Given the description of an element on the screen output the (x, y) to click on. 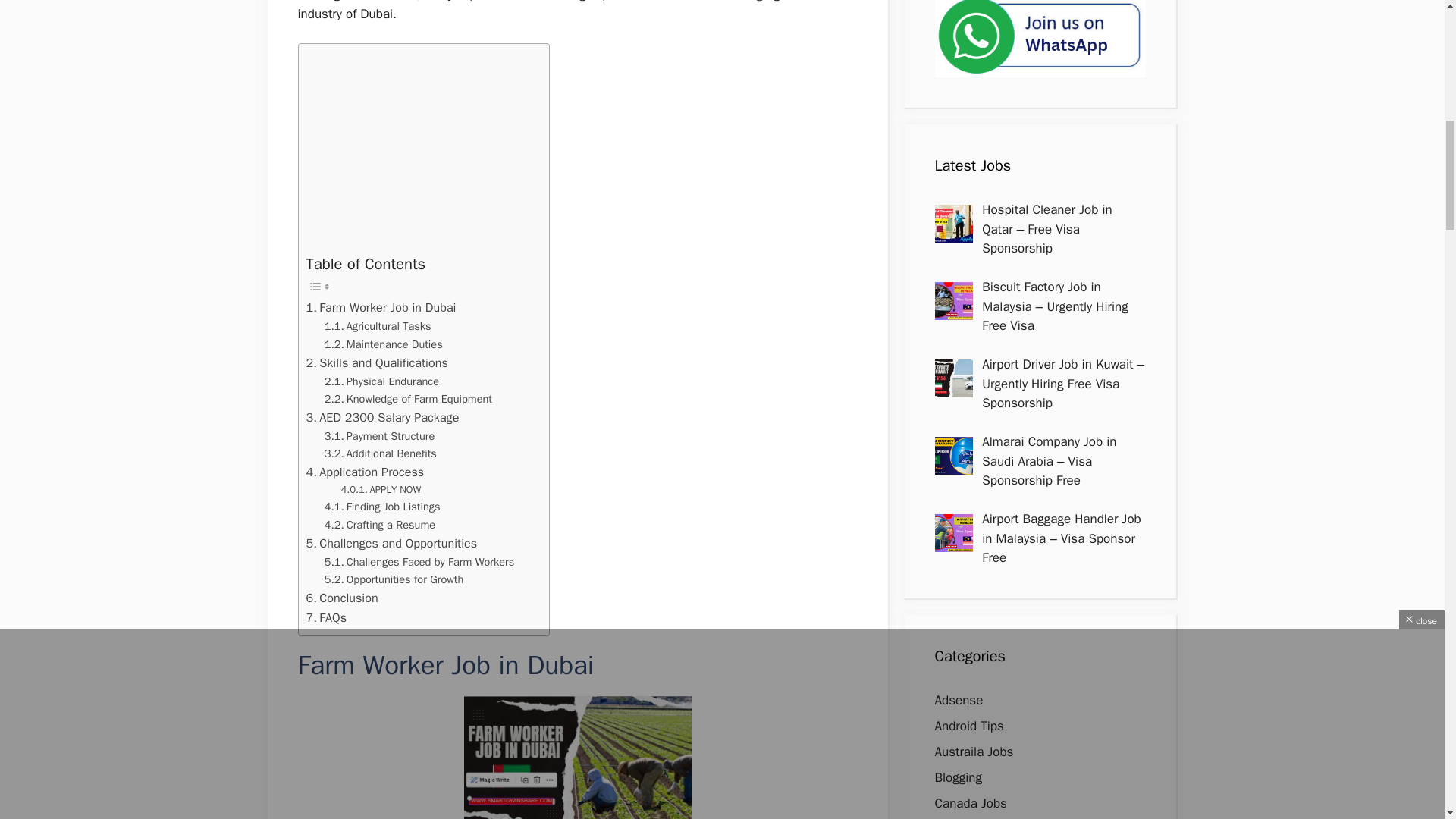
Physical Endurance (381, 381)
Skills and Qualifications (376, 362)
Maintenance Duties (383, 343)
Skills and Qualifications (376, 362)
Maintenance Duties (383, 343)
Payment Structure (379, 436)
Application Process (365, 472)
Agricultural Tasks (377, 325)
Knowledge of Farm Equipment (408, 398)
Knowledge of Farm Equipment (408, 398)
